Given the description of an element on the screen output the (x, y) to click on. 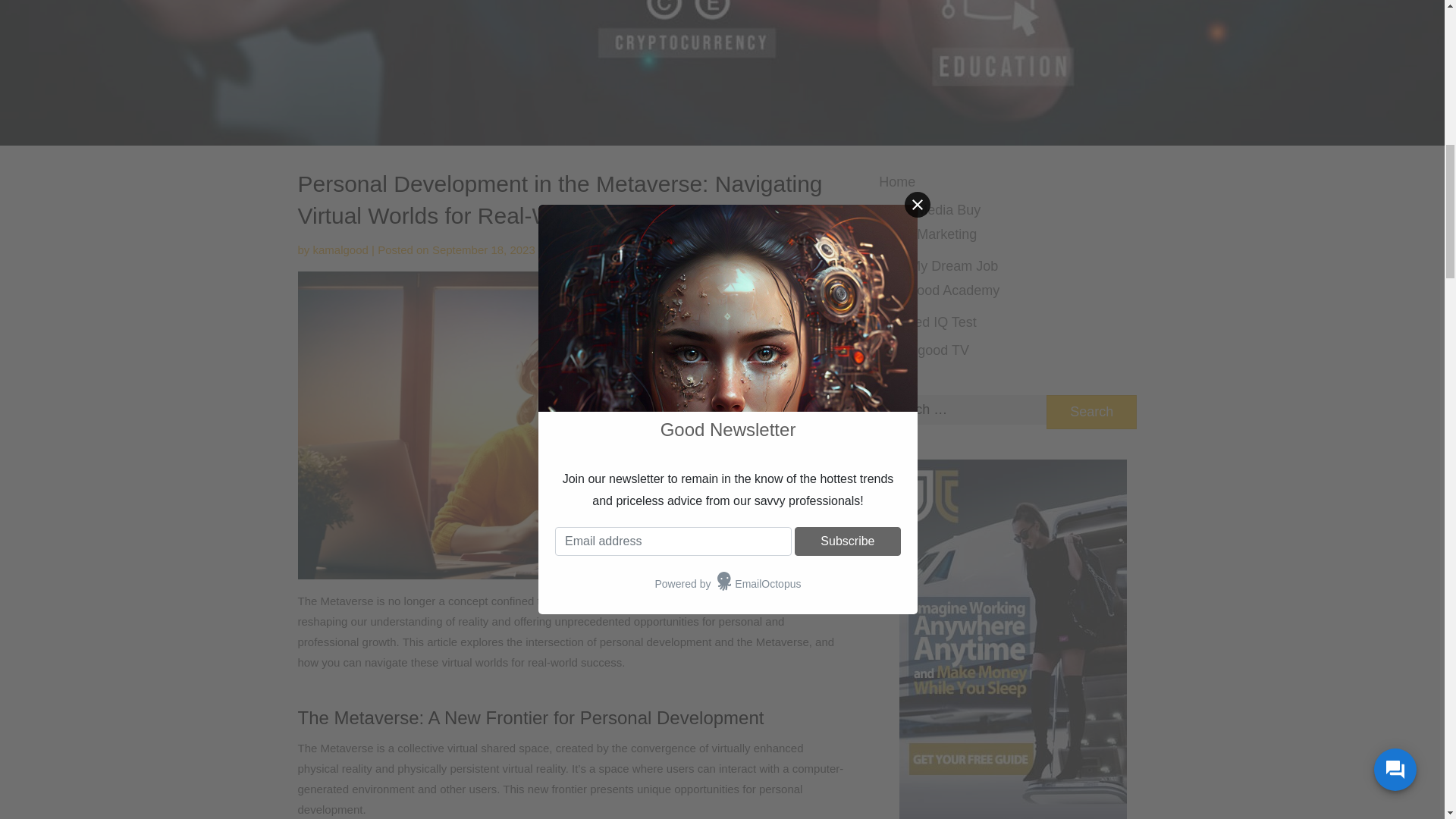
kamalgood (340, 249)
September 18, 2023 (483, 249)
Search (1091, 411)
Search (1091, 411)
